Given the description of an element on the screen output the (x, y) to click on. 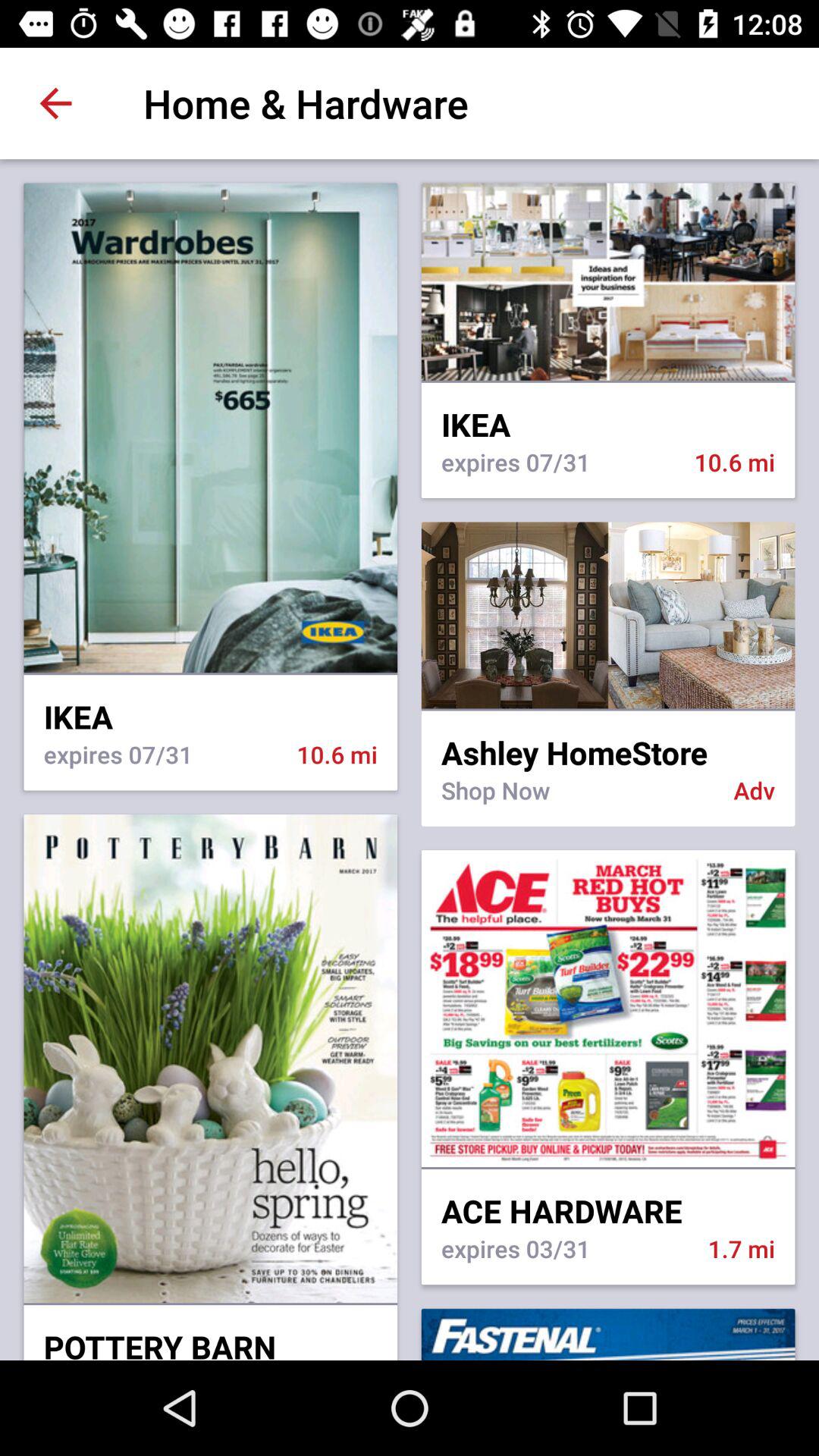
click on store (608, 615)
